Given the description of an element on the screen output the (x, y) to click on. 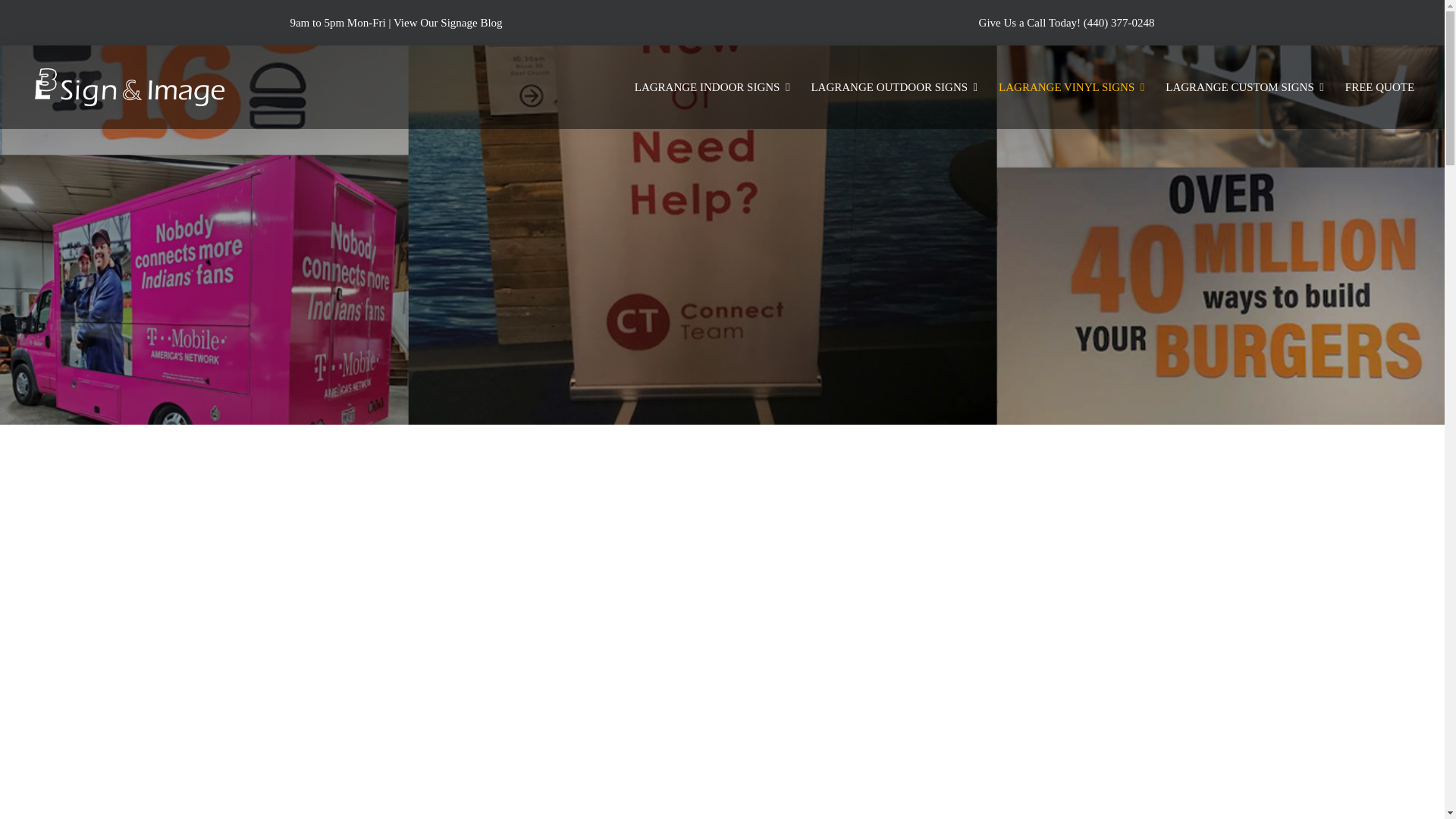
View Our Signage Blog (447, 22)
LAGRANGE OUTDOOR SIGNS (894, 86)
LAGRANGE VINYL SIGNS (1071, 86)
LAGRANGE CUSTOM SIGNS (1244, 86)
LAGRANGE INDOOR SIGNS (712, 86)
